Given the description of an element on the screen output the (x, y) to click on. 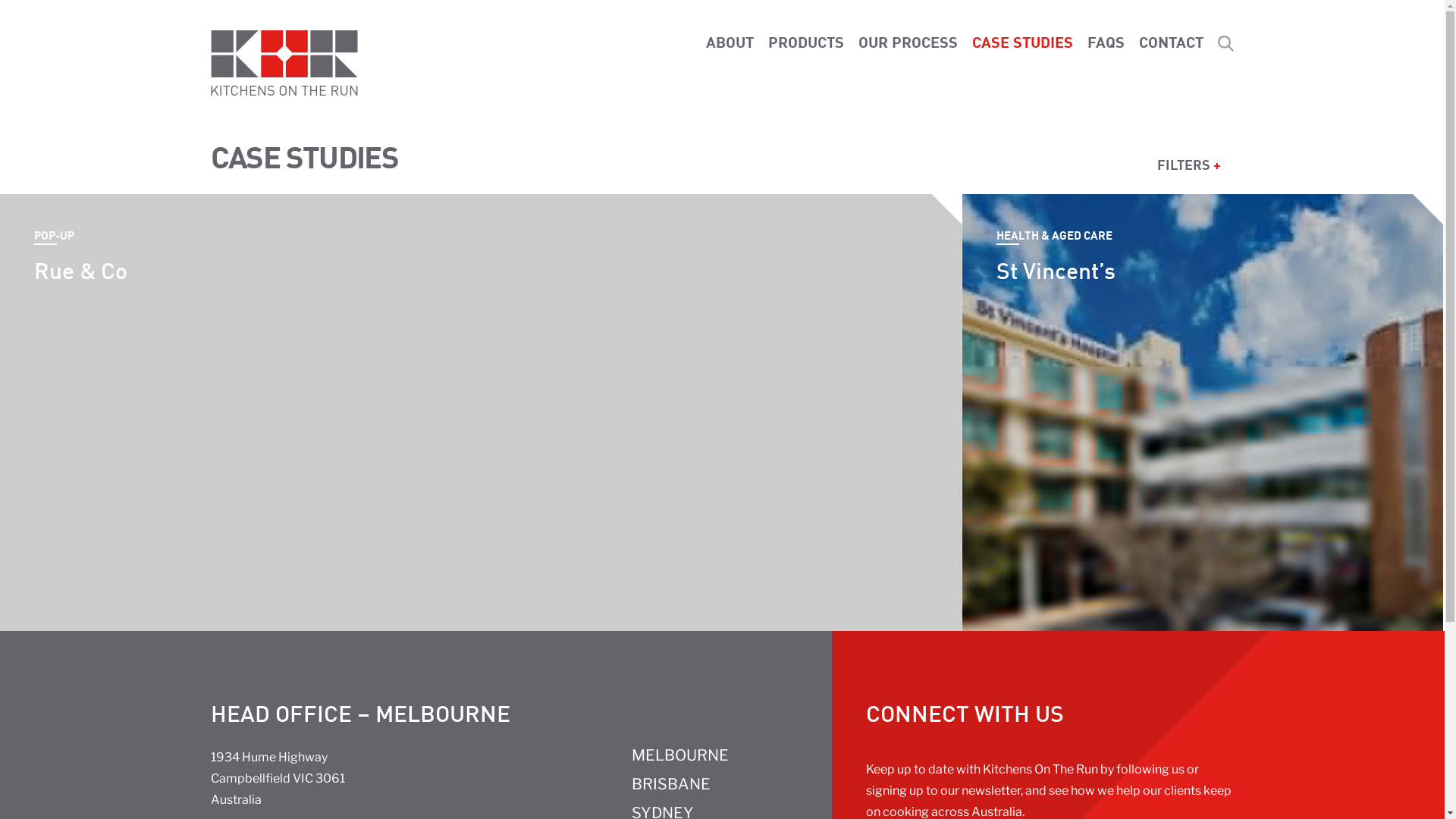
CASE STUDIES Element type: text (1022, 40)
FAQS Element type: text (1105, 40)
ABOUT Element type: text (729, 40)
OUR PROCESS Element type: text (907, 40)
PRODUCTS Element type: text (805, 40)
POP-UP
Rue & Co Element type: text (481, 412)
CONTACT Element type: text (1171, 40)
FILTERS + Element type: text (1188, 161)
SEARCH Element type: text (1225, 47)
